Given the description of an element on the screen output the (x, y) to click on. 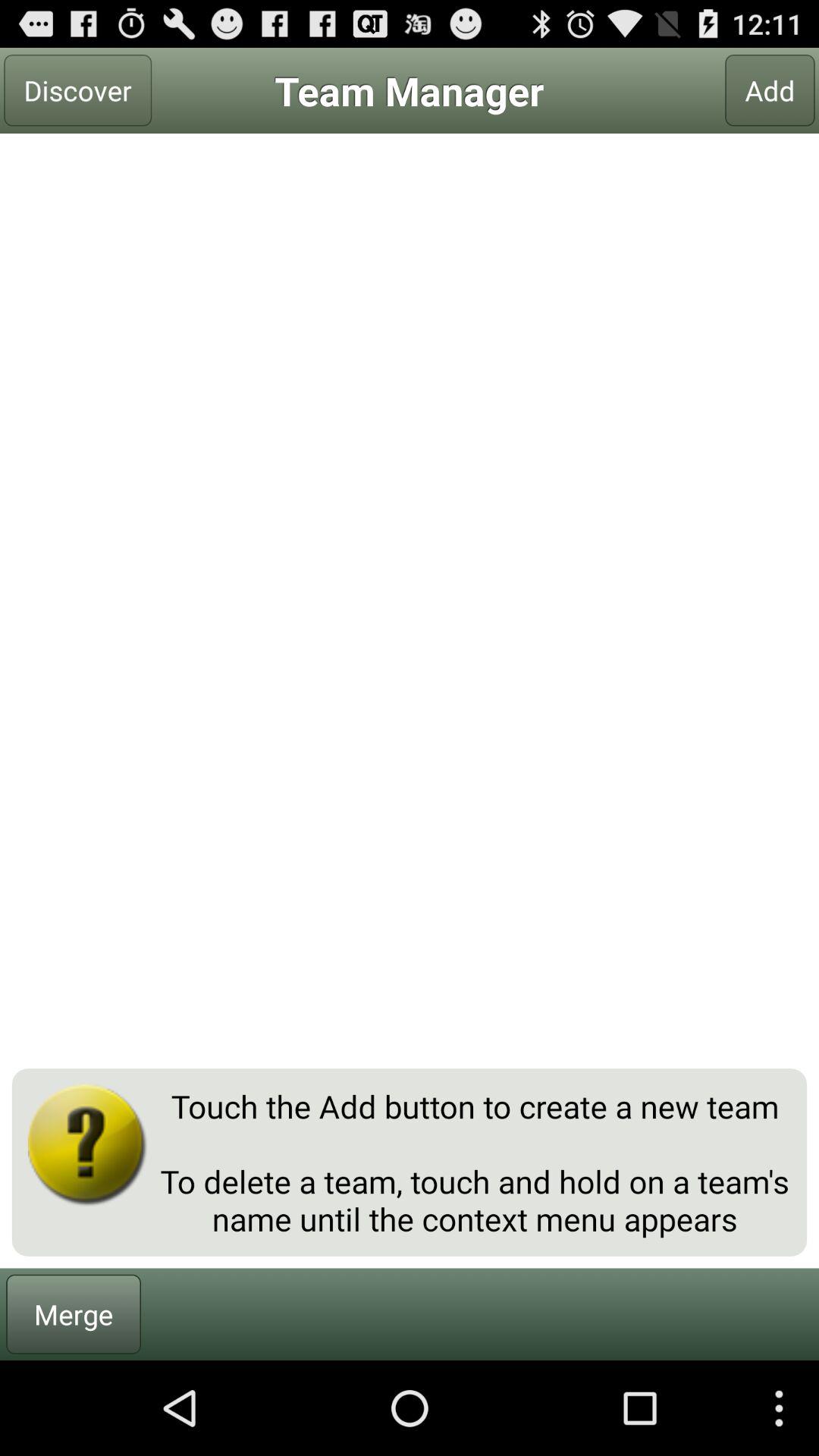
jump until the merge (73, 1314)
